Given the description of an element on the screen output the (x, y) to click on. 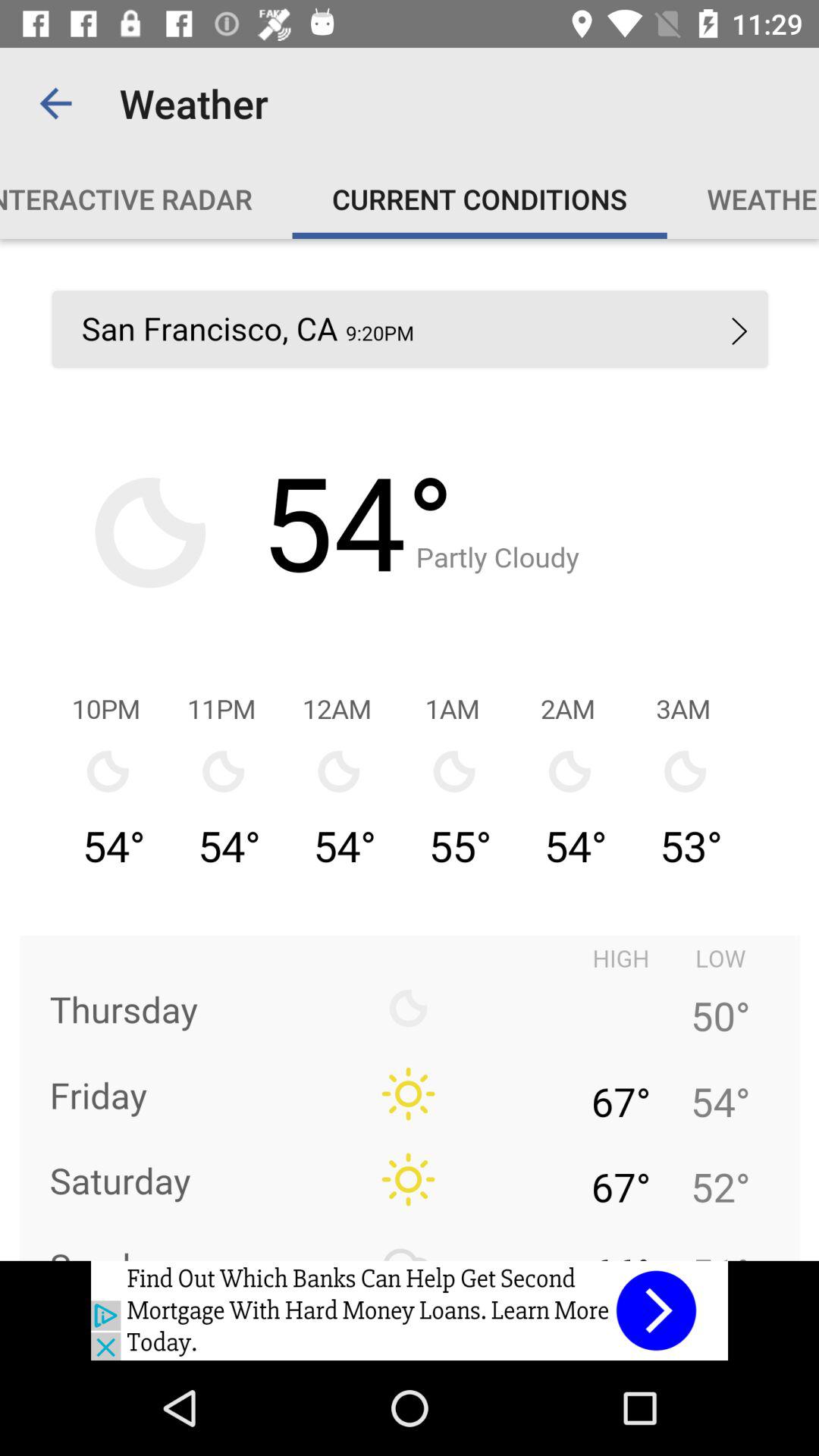
weather (409, 749)
